Given the description of an element on the screen output the (x, y) to click on. 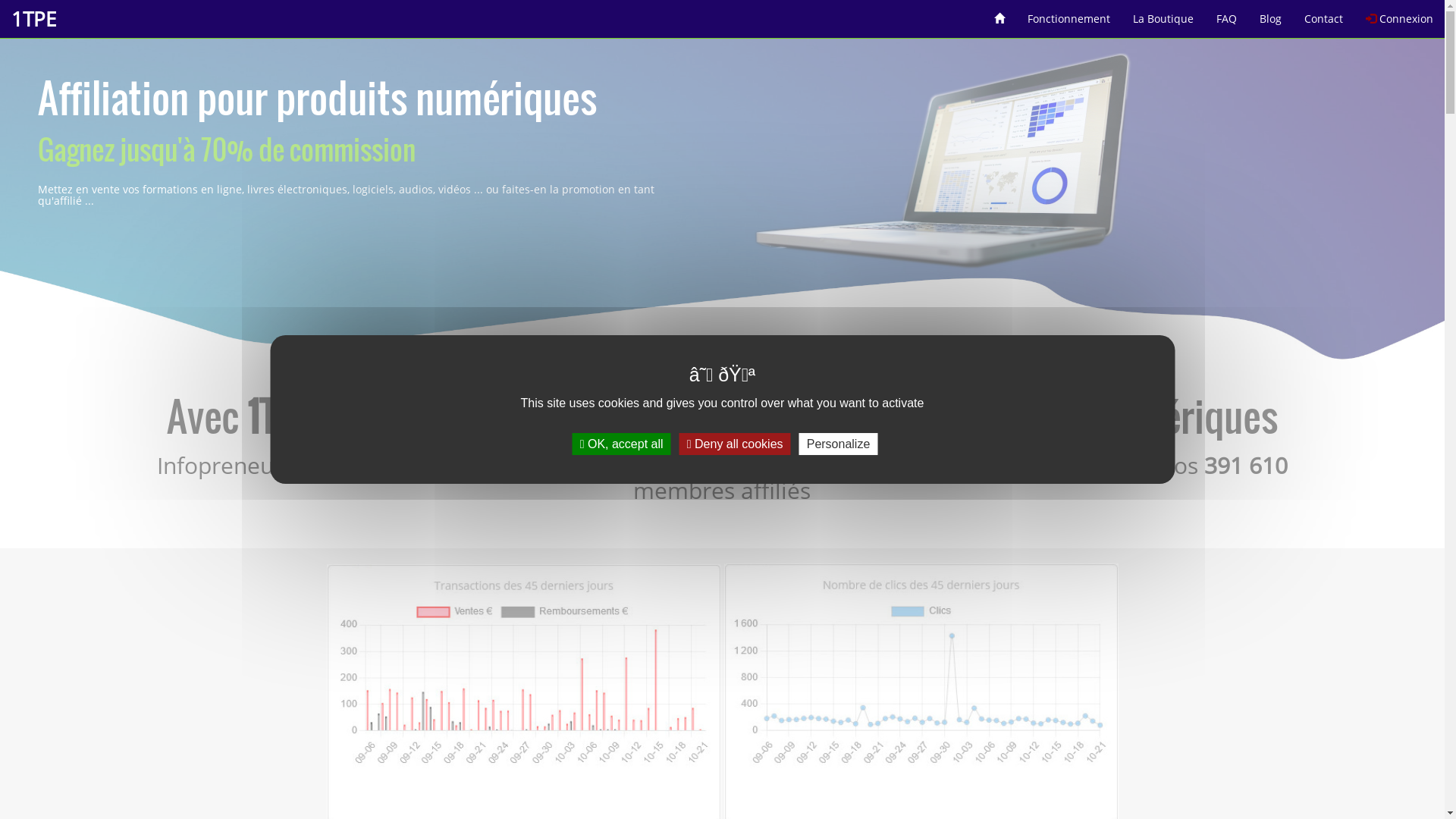
Connexion Element type: text (1399, 13)
La Boutique Element type: text (1162, 13)
FAQ Element type: text (1226, 13)
Fonctionnement Element type: text (1068, 13)
Blog Element type: text (1270, 13)
1TPE Element type: text (33, 18)
Contact Element type: text (1323, 13)
